Given the description of an element on the screen output the (x, y) to click on. 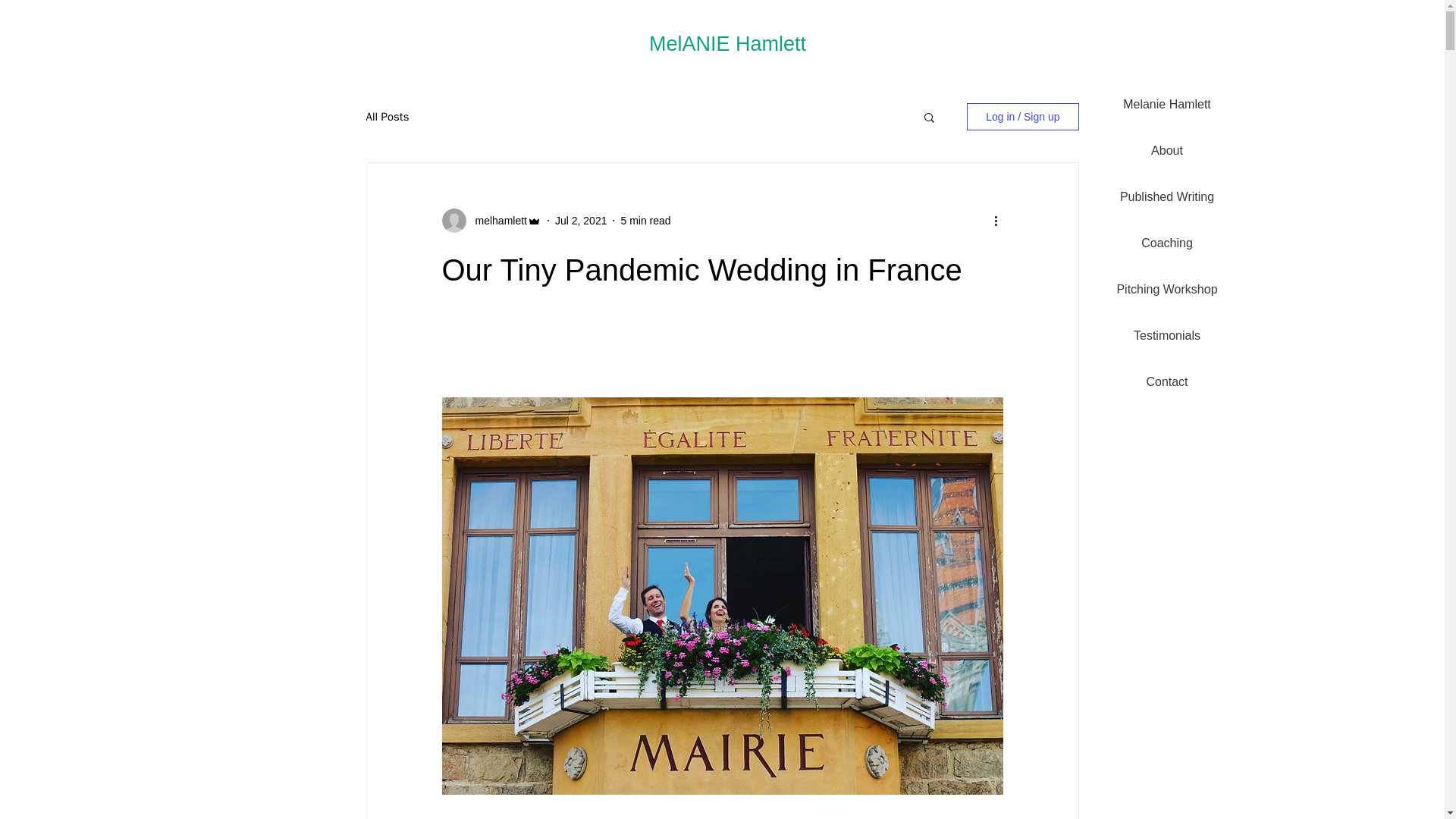
5 min read (644, 219)
Jul 2, 2021 (580, 219)
Melanie Hamlett (1166, 104)
Pitching Workshop (1166, 289)
Contact (1166, 381)
melhamlett (495, 220)
Published Writing (1166, 197)
MelANIE Hamlett (727, 43)
Coaching (1166, 243)
About (1166, 150)
Testimonials (1166, 335)
All Posts (387, 115)
